Given the description of an element on the screen output the (x, y) to click on. 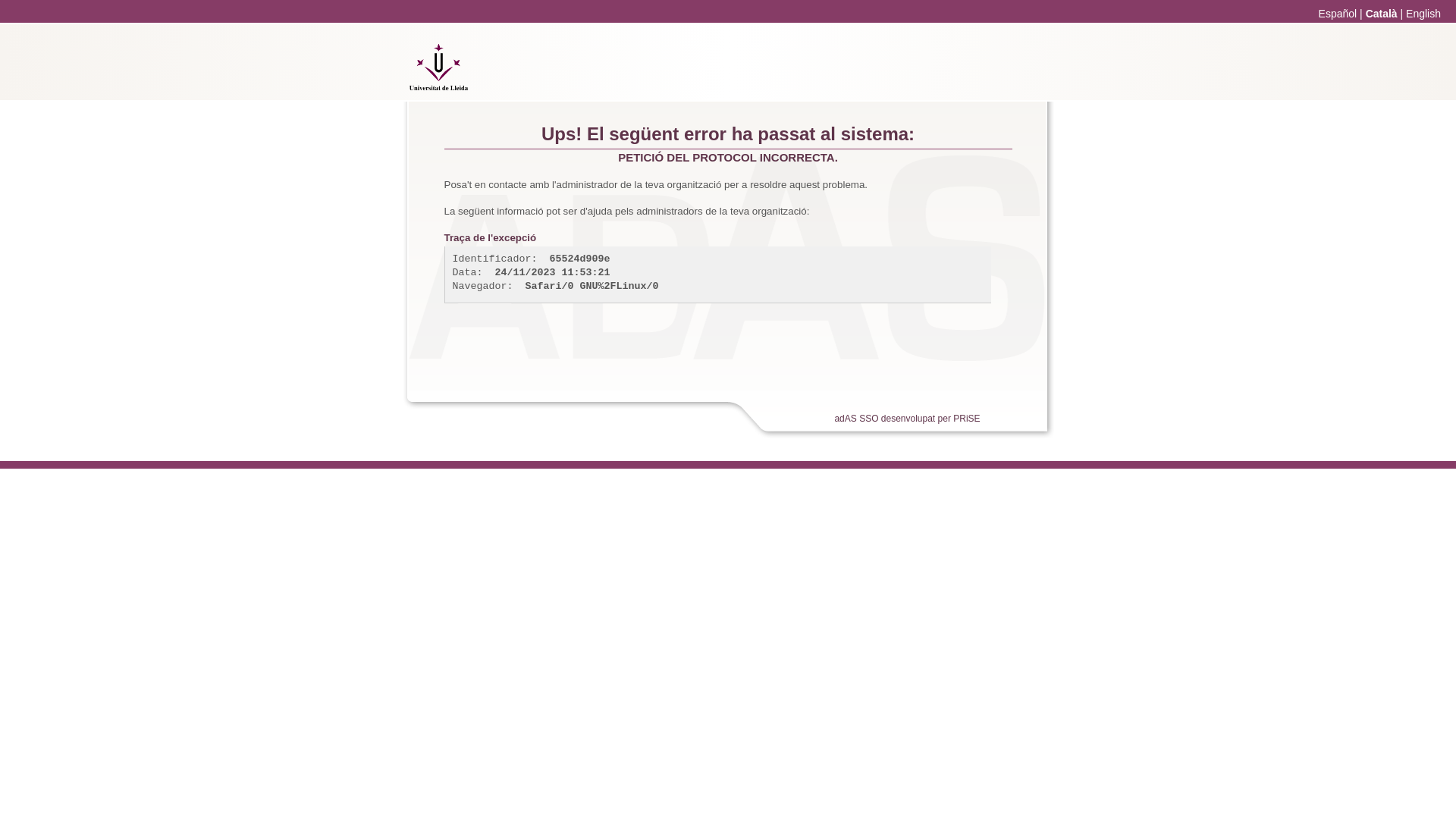
adAS SSO desenvolupat per PRiSE Element type: text (906, 418)
UdL @ autenticaciopreprod Element type: hover (438, 86)
